Given the description of an element on the screen output the (x, y) to click on. 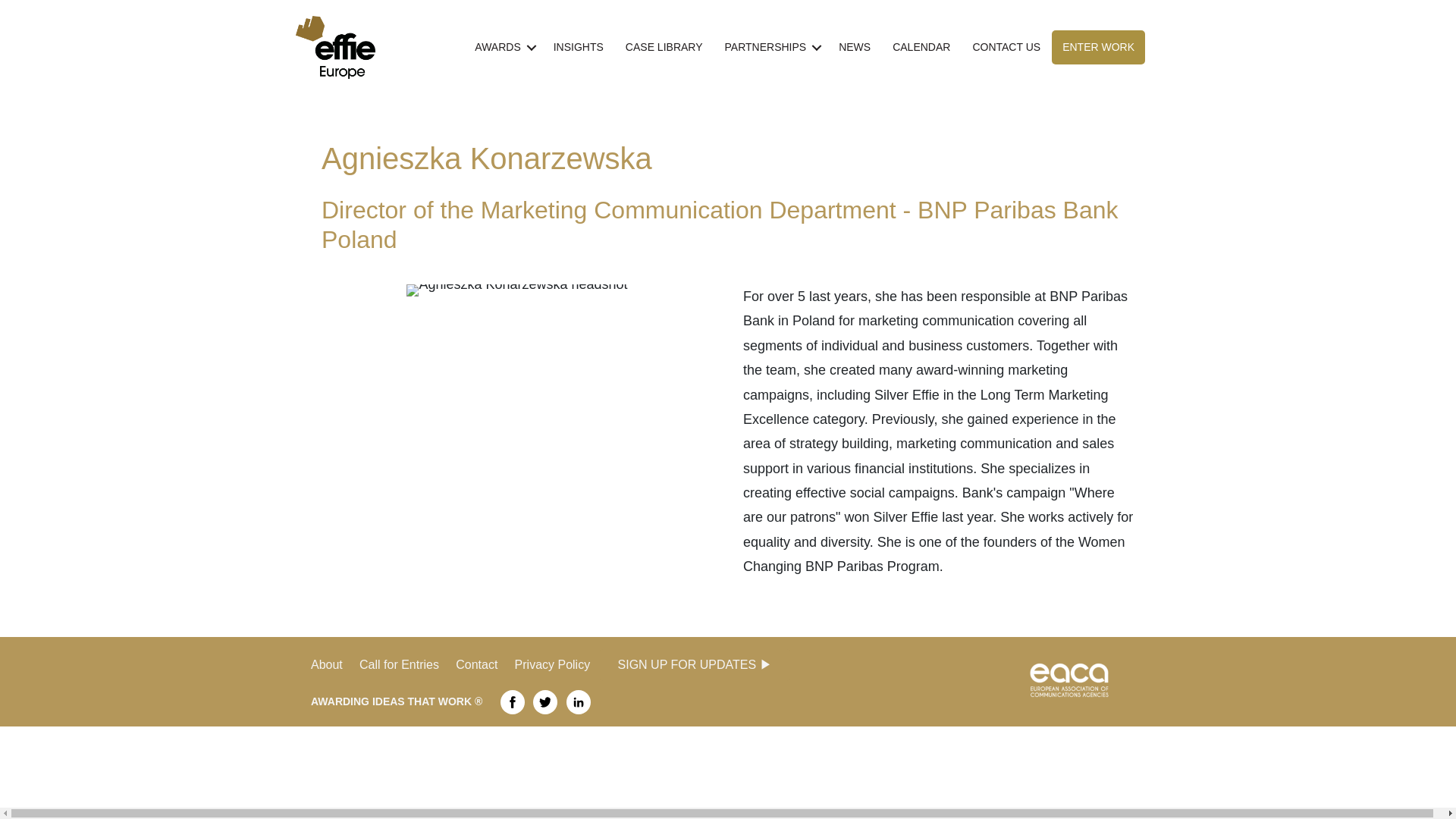
About (326, 664)
CASE LIBRARY (663, 47)
AWARDS (502, 47)
CONTACT US (1005, 47)
PARTNERSHIPS (771, 47)
Contact     (484, 664)
Agnieszka Konarzewska (516, 290)
NEWS (854, 47)
CALENDAR (921, 47)
ENTER WORK (1097, 47)
